Given the description of an element on the screen output the (x, y) to click on. 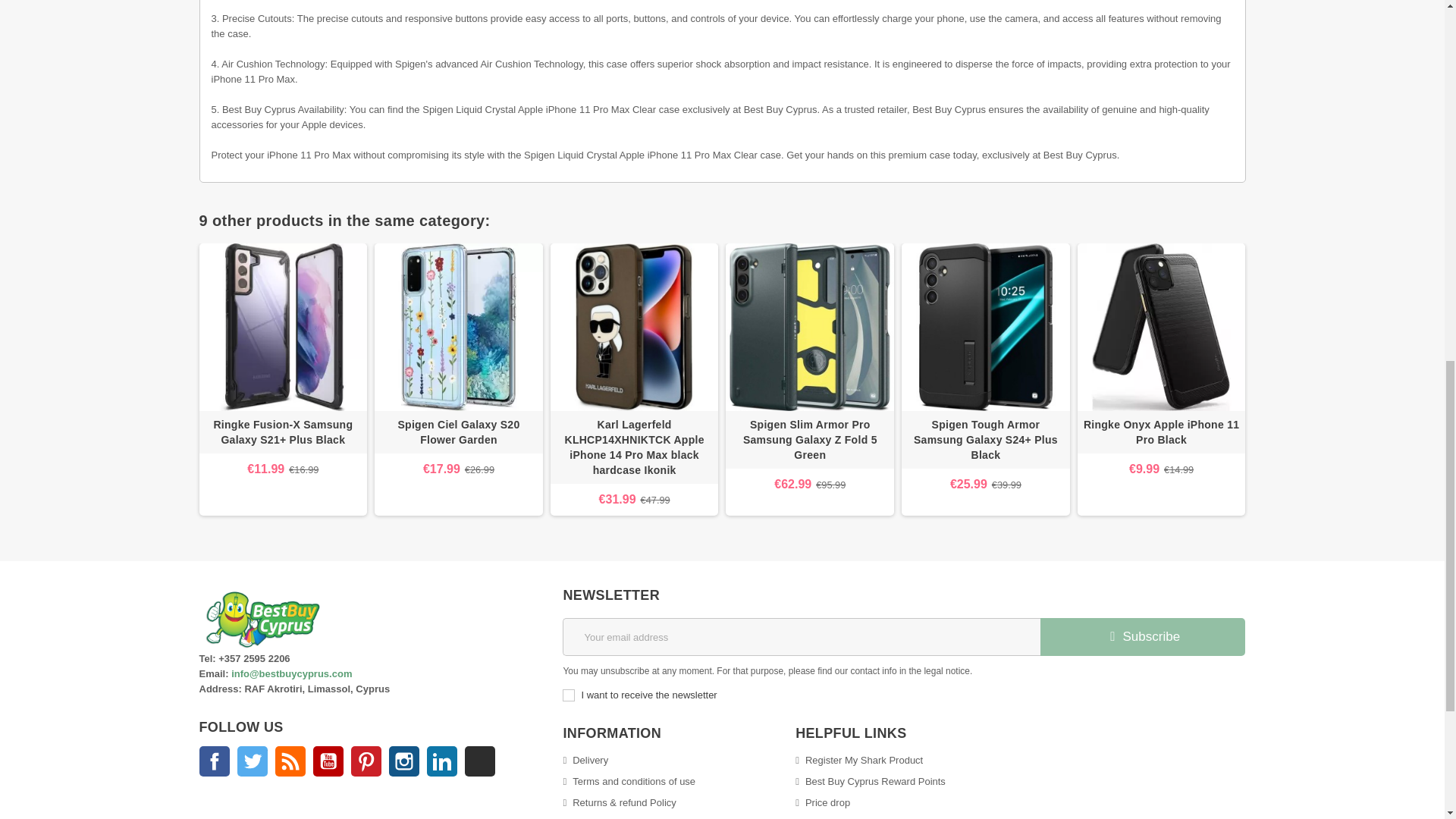
Spigen Ciel Galaxy S20 Flower Garden (458, 327)
Ringke Onyx Apple iPhone 11 Pro Black (1161, 327)
Spigen Slim Armor Pro Samsung Galaxy Z Fold 5 Green (809, 439)
Ringke Onyx Apple iPhone 11 Pro Black (1161, 432)
Spigen Ciel Galaxy S20 Flower Garden (458, 432)
Spigen Slim Armor Pro Samsung Galaxy Z Fold 5 Green (809, 327)
Spigen Ciel Galaxy S20 Flower Garden (458, 431)
